Given the description of an element on the screen output the (x, y) to click on. 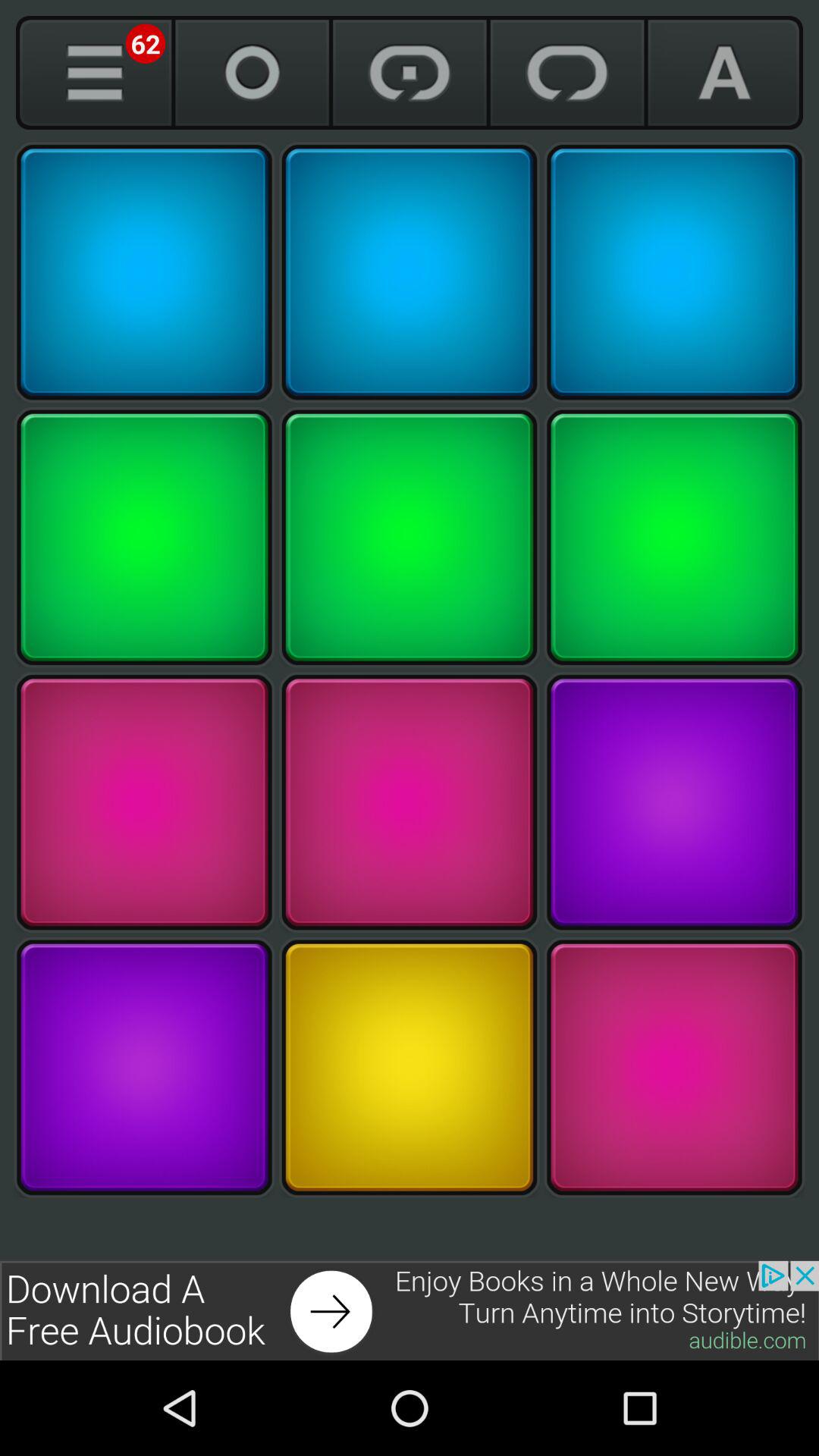
select marroon color (409, 802)
